Given the description of an element on the screen output the (x, y) to click on. 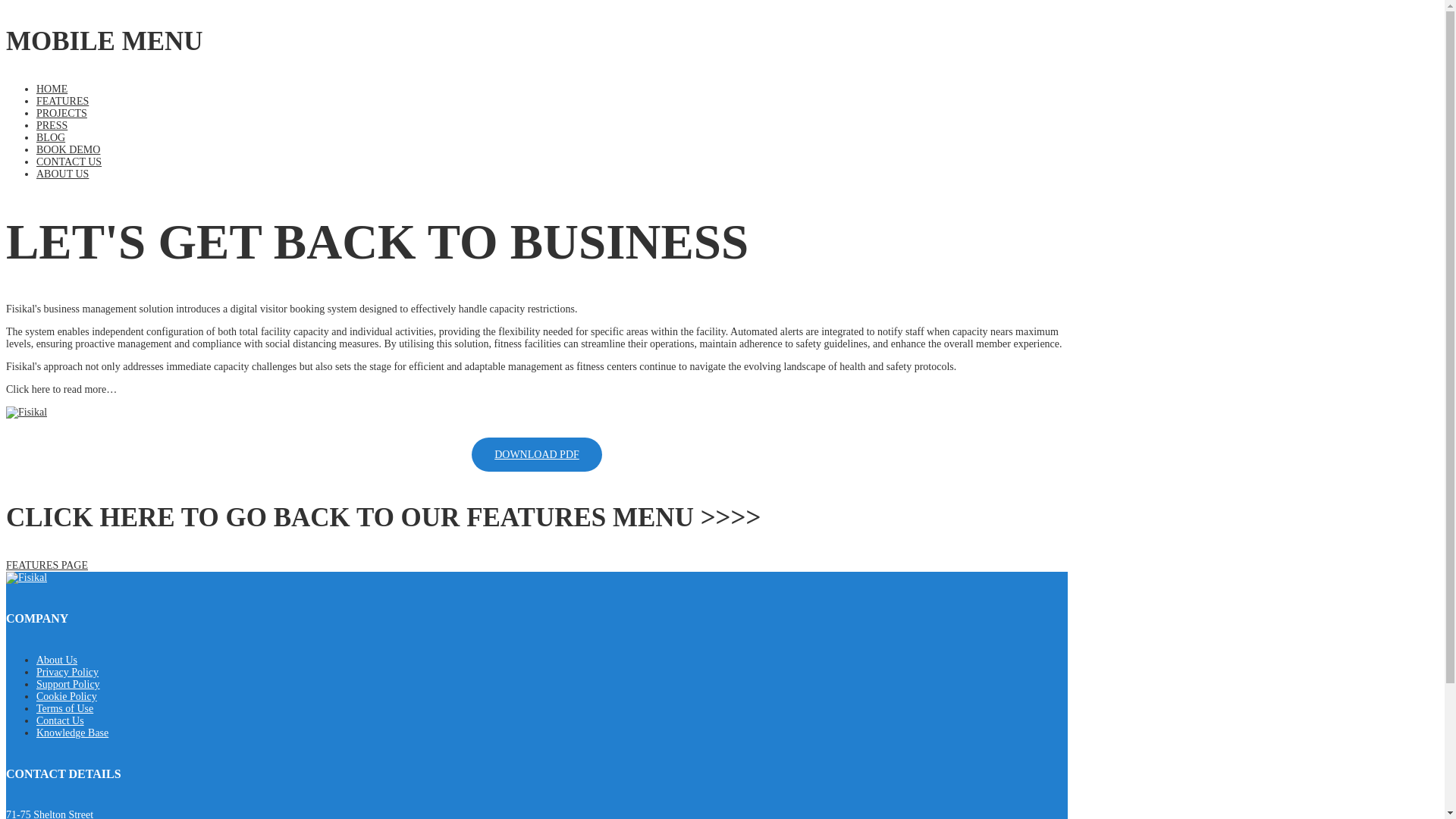
Knowledge Base (71, 732)
BOOK DEMO (68, 149)
DOWNLOAD PDF (536, 454)
PRESS (51, 125)
About Us (56, 659)
BLOG (50, 137)
CONTACT US (68, 161)
FEATURES PAGE (46, 564)
Terms of Use (64, 708)
Contact Us (60, 720)
Fisikal (25, 577)
PROJECTS (61, 112)
Privacy Policy (67, 672)
HOME (51, 89)
FEATURES (62, 101)
